Given the description of an element on the screen output the (x, y) to click on. 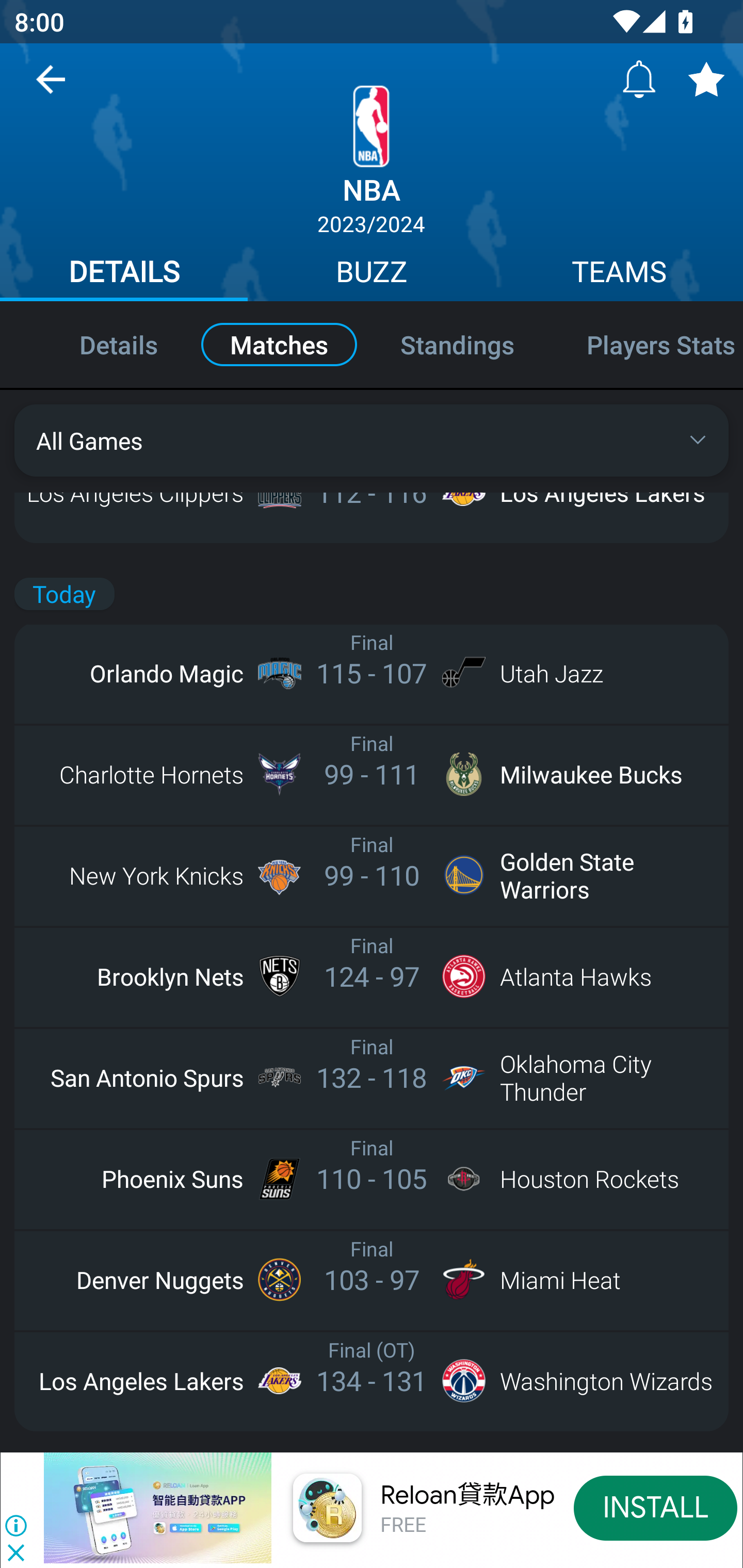
Navigate up (50, 86)
DETAILS (123, 274)
BUZZ (371, 274)
TEAMS (619, 274)
Details (96, 344)
Standings (457, 344)
Players Stats (646, 344)
All Games (371, 440)
Orlando Magic Final 115 - 107 Utah Jazz (371, 673)
Charlotte Hornets Final 99 - 111 Milwaukee Bucks (371, 774)
Brooklyn Nets Final 124 - 97 Atlanta Hawks (371, 976)
Phoenix Suns Final 110 - 105 Houston Rockets (371, 1178)
Denver Nuggets Final 103 - 97 Miami Heat (371, 1279)
INSTALL (655, 1507)
Reloan貸款App (467, 1494)
